Given the description of an element on the screen output the (x, y) to click on. 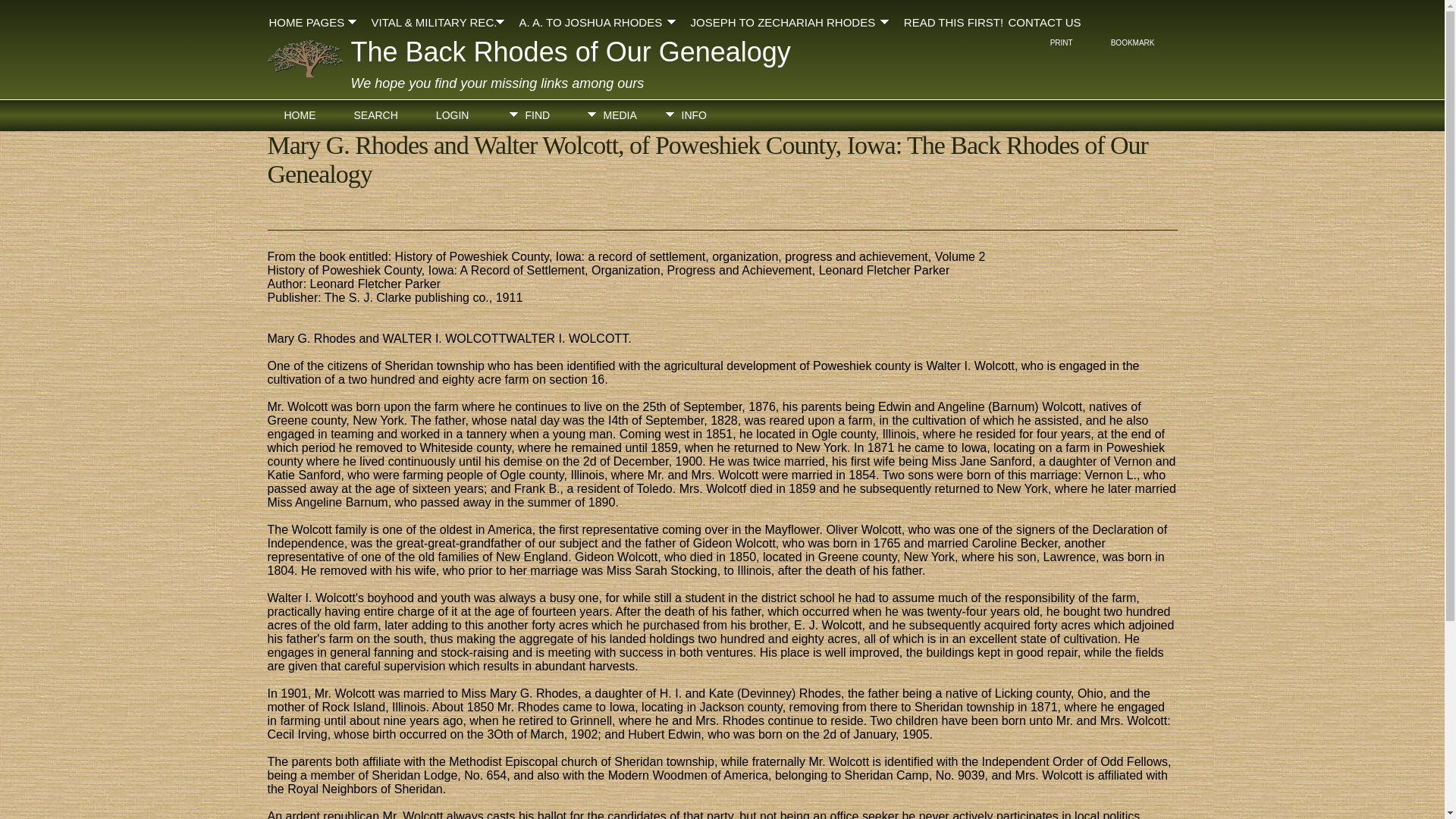
HOME PAGES (317, 19)
